Given the description of an element on the screen output the (x, y) to click on. 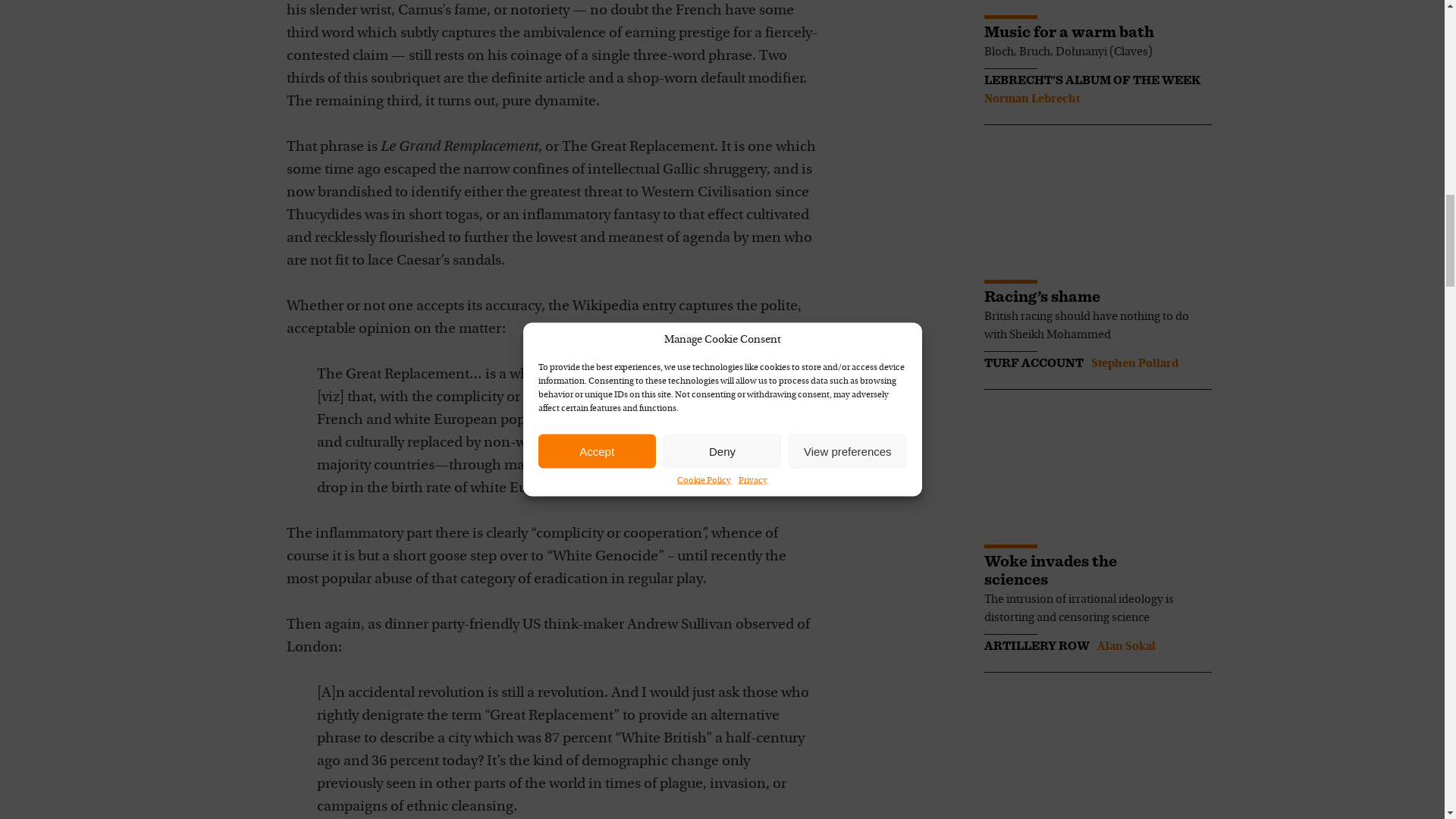
Posts by Stephen Pollard (1133, 363)
Posts by Alan Sokal (1125, 646)
Posts by Norman Lebrecht (1032, 99)
